Given the description of an element on the screen output the (x, y) to click on. 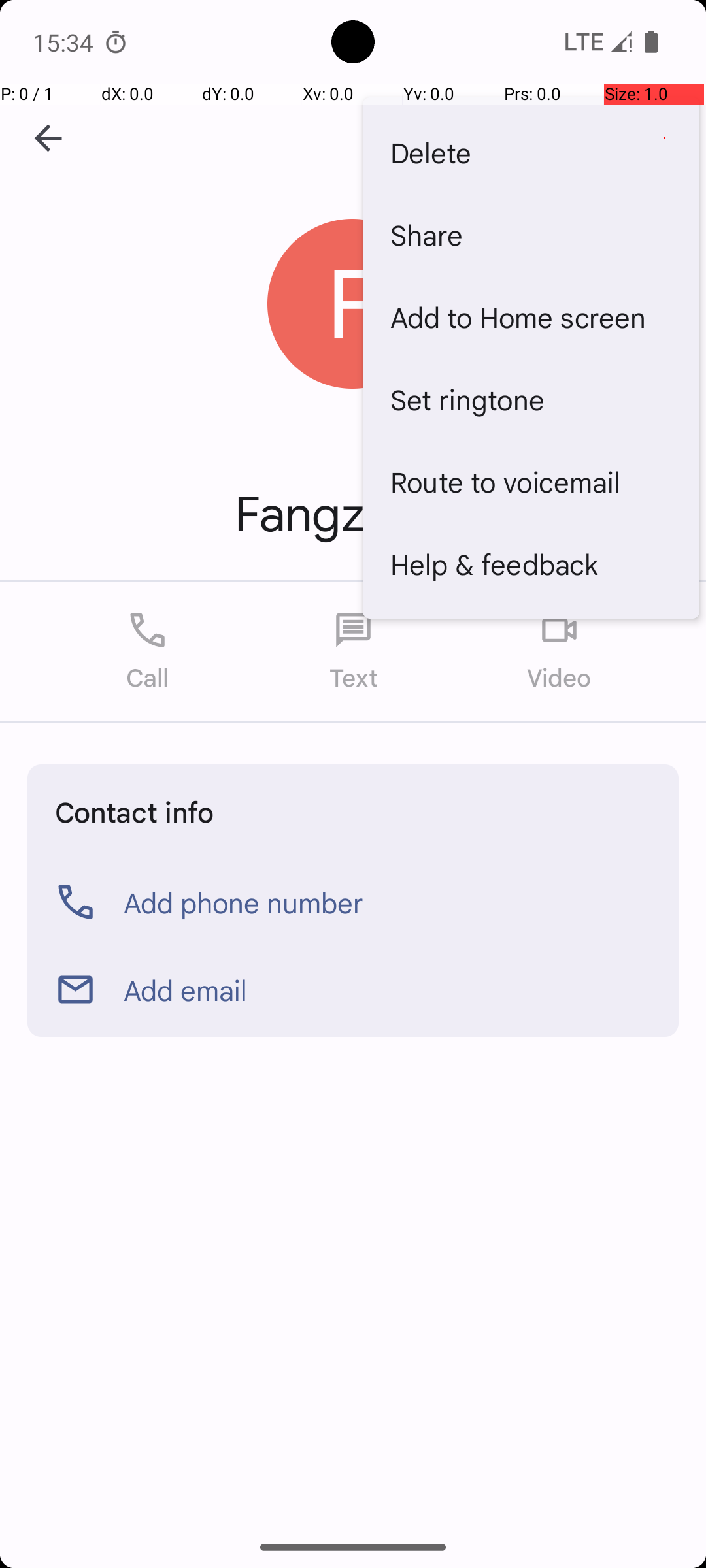
Add to Home screen Element type: android.widget.TextView (531, 316)
Set ringtone Element type: android.widget.TextView (531, 398)
Route to voicemail Element type: android.widget.TextView (531, 481)
